Given the description of an element on the screen output the (x, y) to click on. 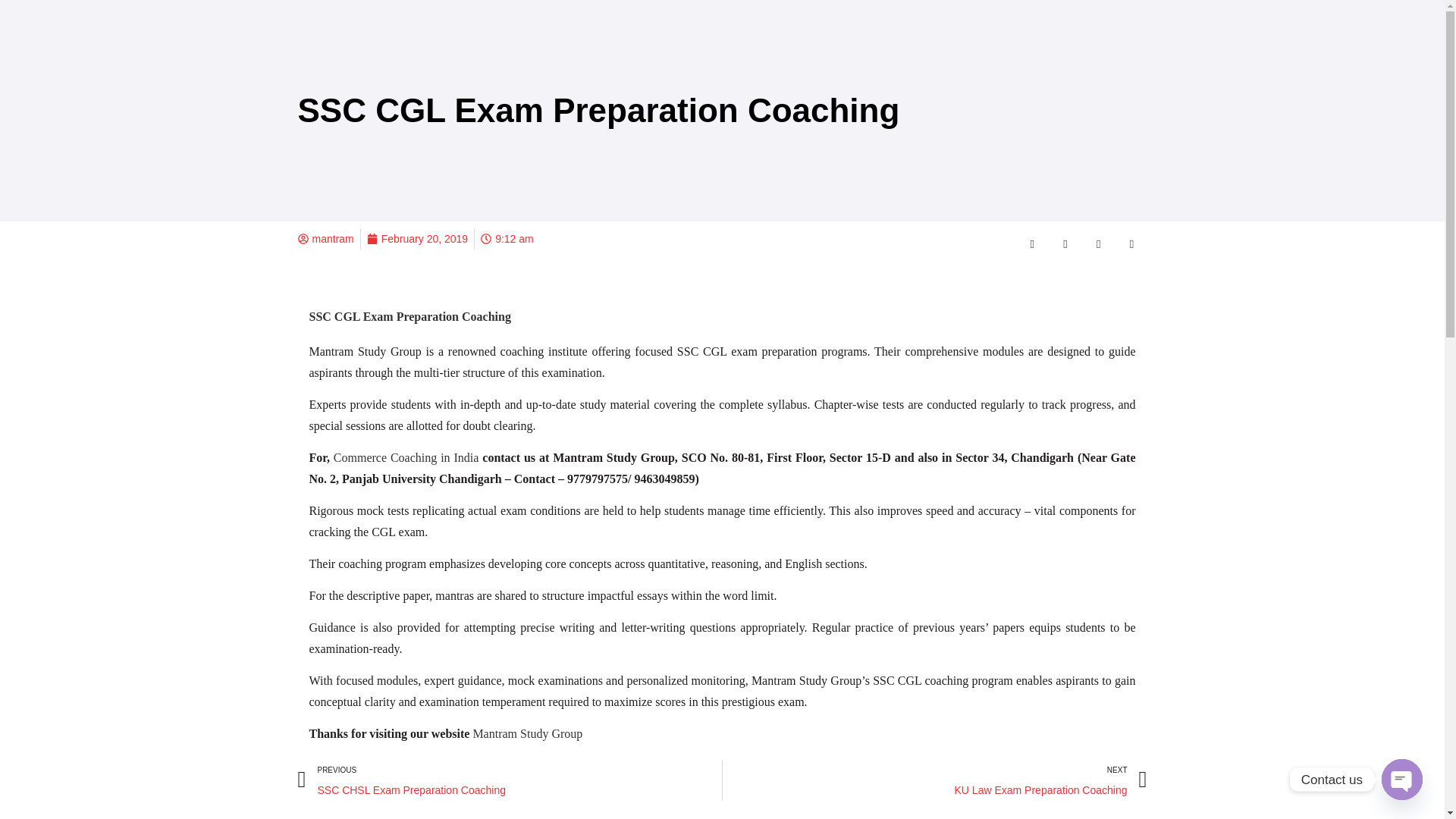
Commerce Coaching in India (406, 457)
Facebook (1031, 243)
LinkedIn (934, 780)
mantram (1098, 243)
February 20, 2019 (325, 239)
Mantram Study Group (416, 239)
Twitter (526, 733)
Instagram (1065, 243)
